Given the description of an element on the screen output the (x, y) to click on. 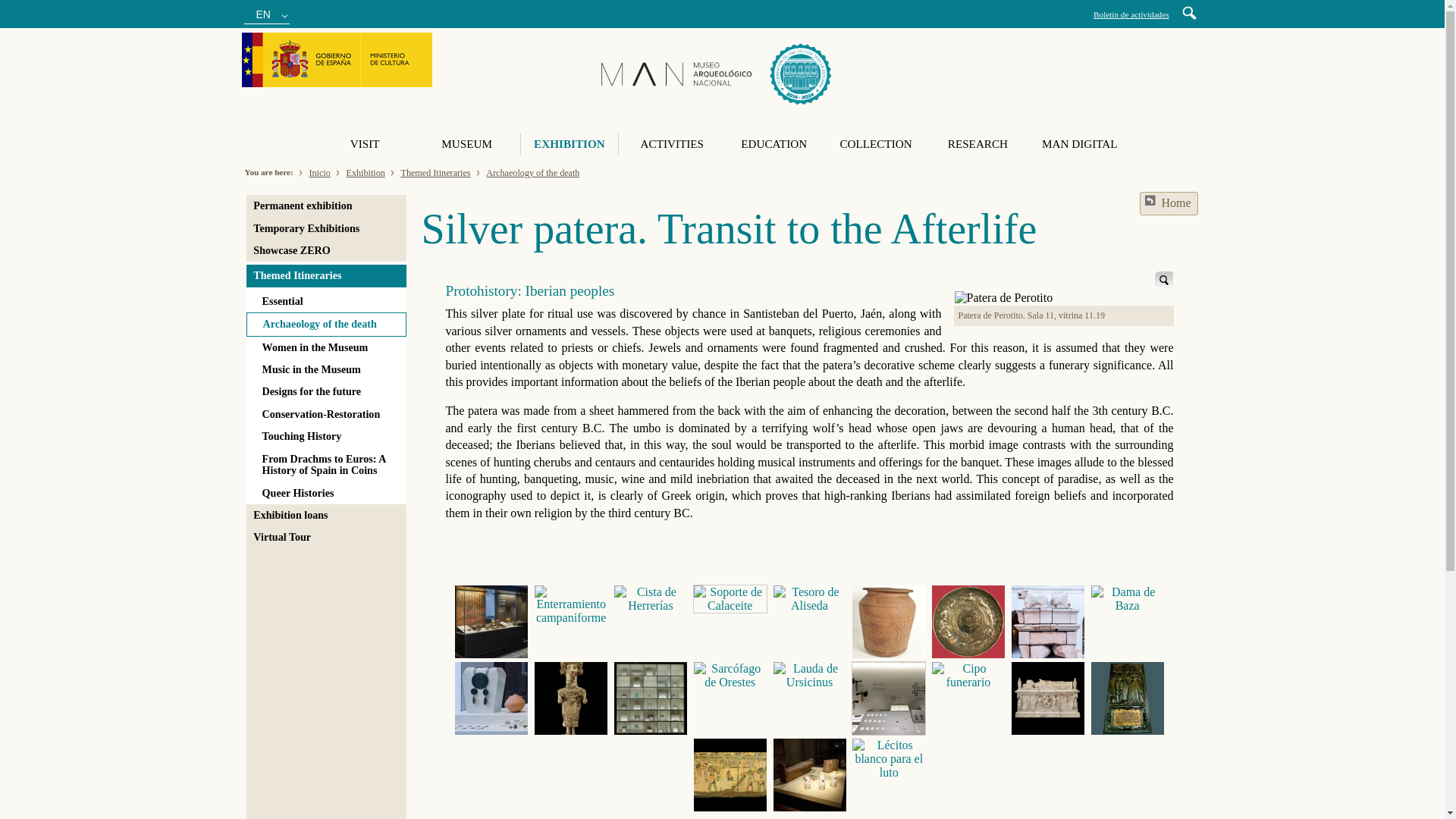
3 (649, 598)
2 (571, 604)
Patera de Perotito. Pulse para ampliar (1163, 280)
Patera de Perotito (1003, 297)
Ministerio de Cultura (336, 59)
Enlace externo, se abre en ventana nueva. (335, 61)
1 (491, 621)
